Given the description of an element on the screen output the (x, y) to click on. 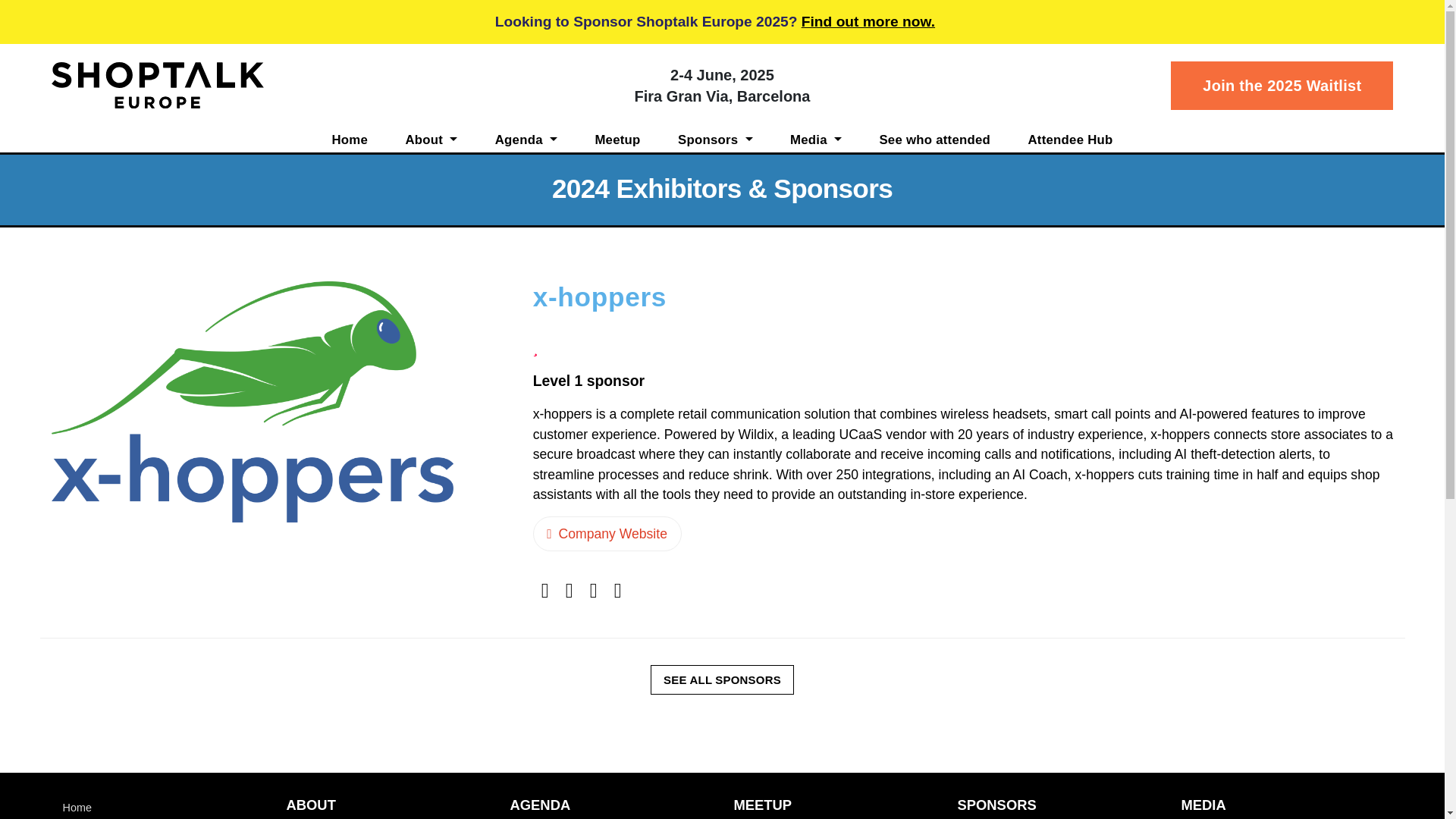
Shoptalk Europe (156, 85)
Facebook (544, 590)
Media (815, 140)
Agenda (526, 140)
Youtube (617, 590)
X (569, 590)
LinkedIn (592, 590)
About (430, 140)
Home (350, 140)
Join the 2025 Waitlist (1281, 85)
Sponsors (715, 140)
Meetup (617, 140)
Find out more now. (868, 21)
